Given the description of an element on the screen output the (x, y) to click on. 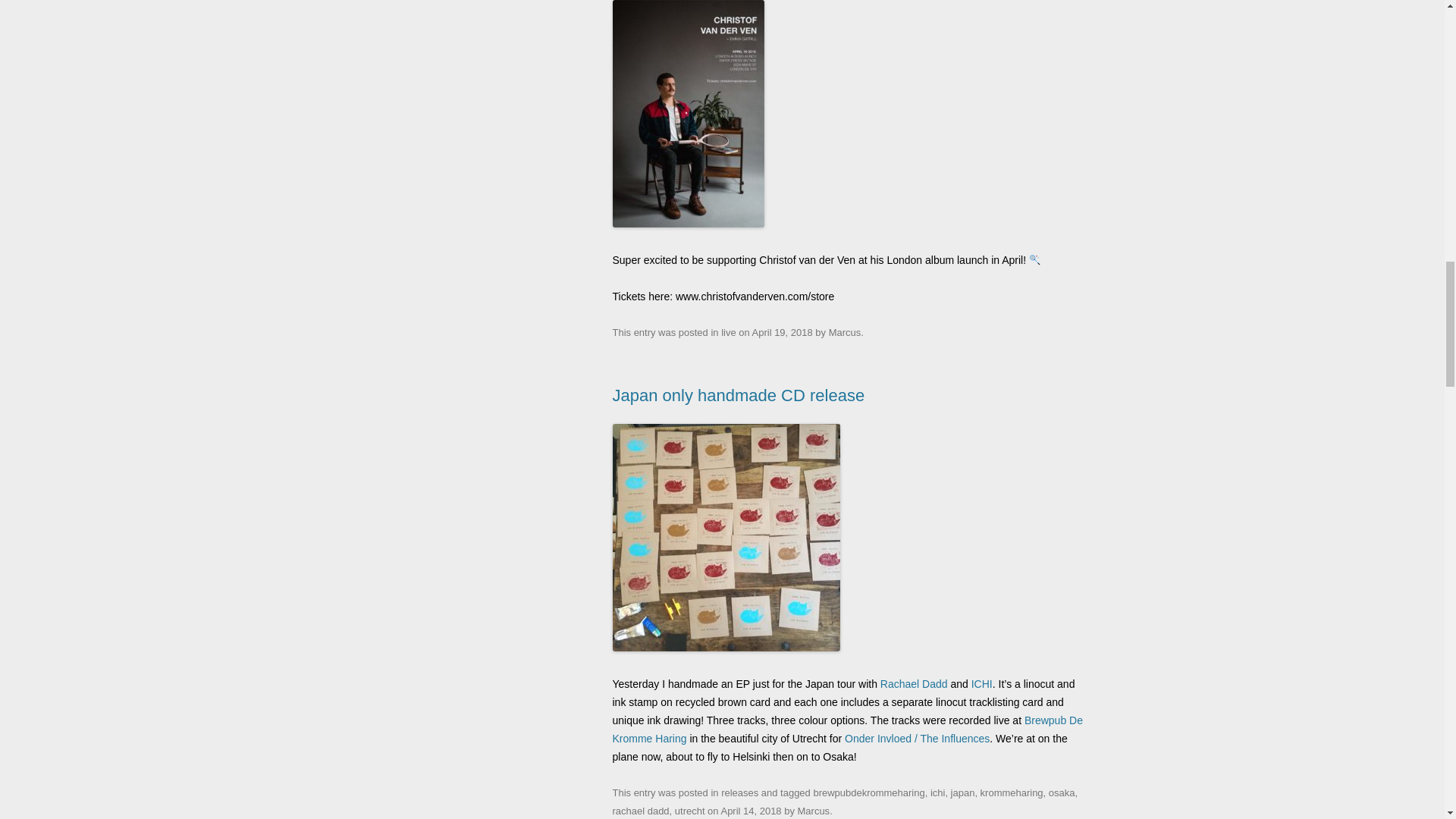
ICHI (981, 684)
Permalink to Japan only handmade CD release (738, 394)
releases (739, 792)
Brewpub De Kromme Haring (847, 729)
Marcus (844, 332)
April 19, 2018 (782, 332)
View all posts by Marcus (813, 810)
View all posts by Marcus (844, 332)
live (727, 332)
Rachael Dadd (913, 684)
10:35 am (750, 810)
brewpubdekrommeharing (868, 792)
9:55 am (782, 332)
Japan only handmade CD release (738, 394)
